Given the description of an element on the screen output the (x, y) to click on. 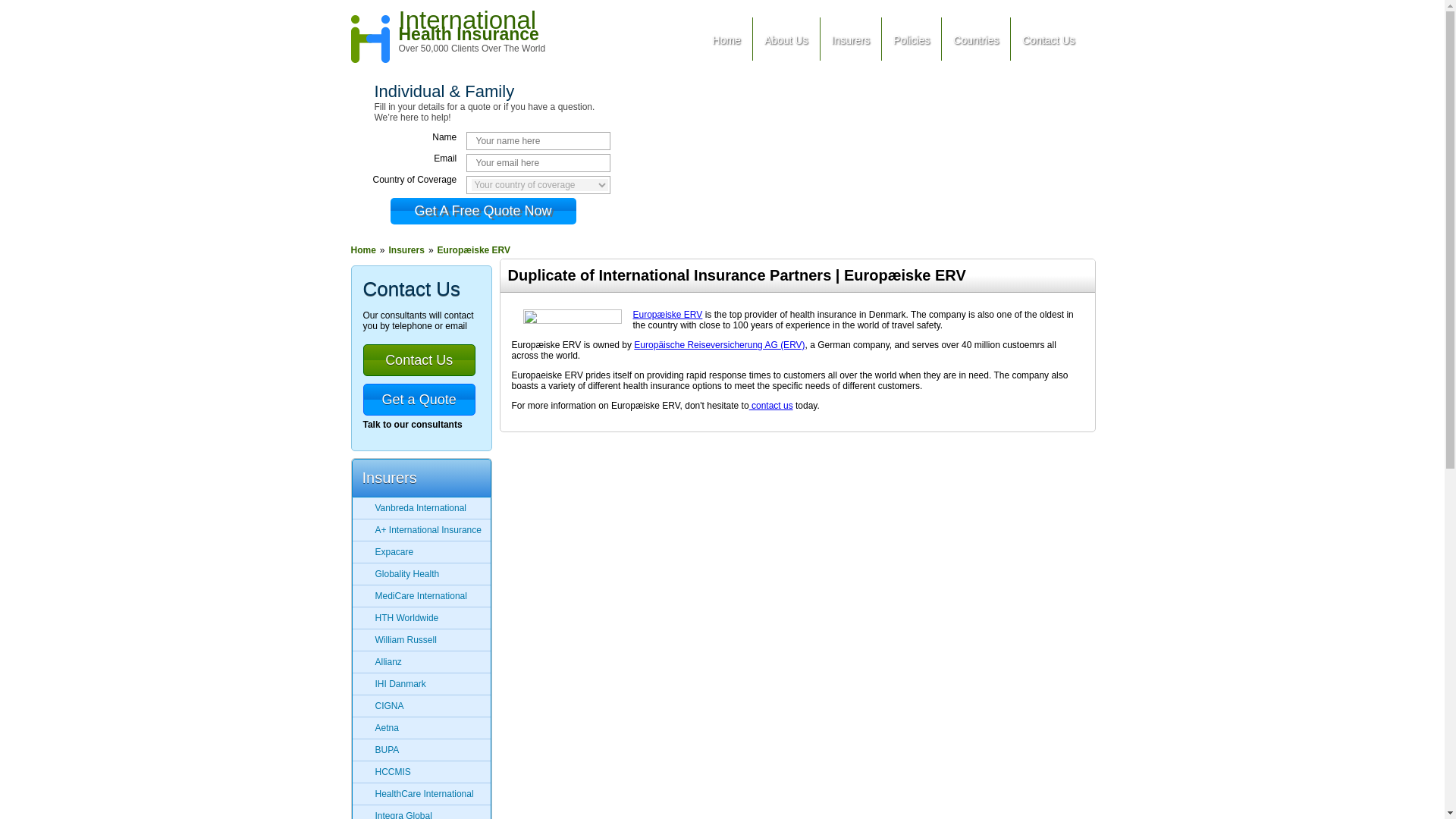
Insurers (851, 38)
Home (726, 38)
Countries (976, 38)
About Us (786, 38)
Contact Us (1048, 38)
Policies (912, 38)
Get A Free Quote Now (472, 25)
Get A Free Quote Now (482, 211)
